Given the description of an element on the screen output the (x, y) to click on. 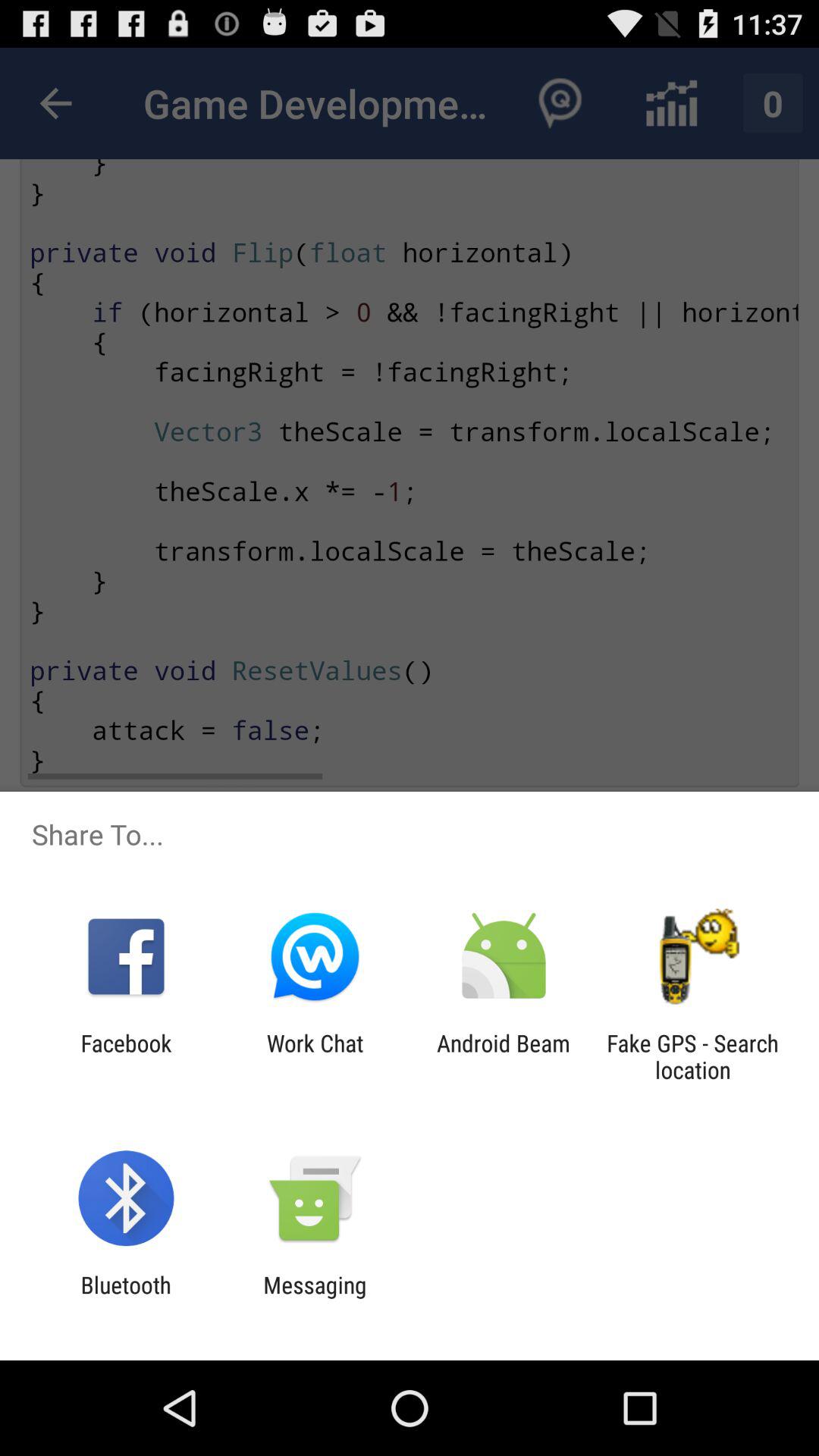
press the icon next to the fake gps search item (503, 1056)
